Given the description of an element on the screen output the (x, y) to click on. 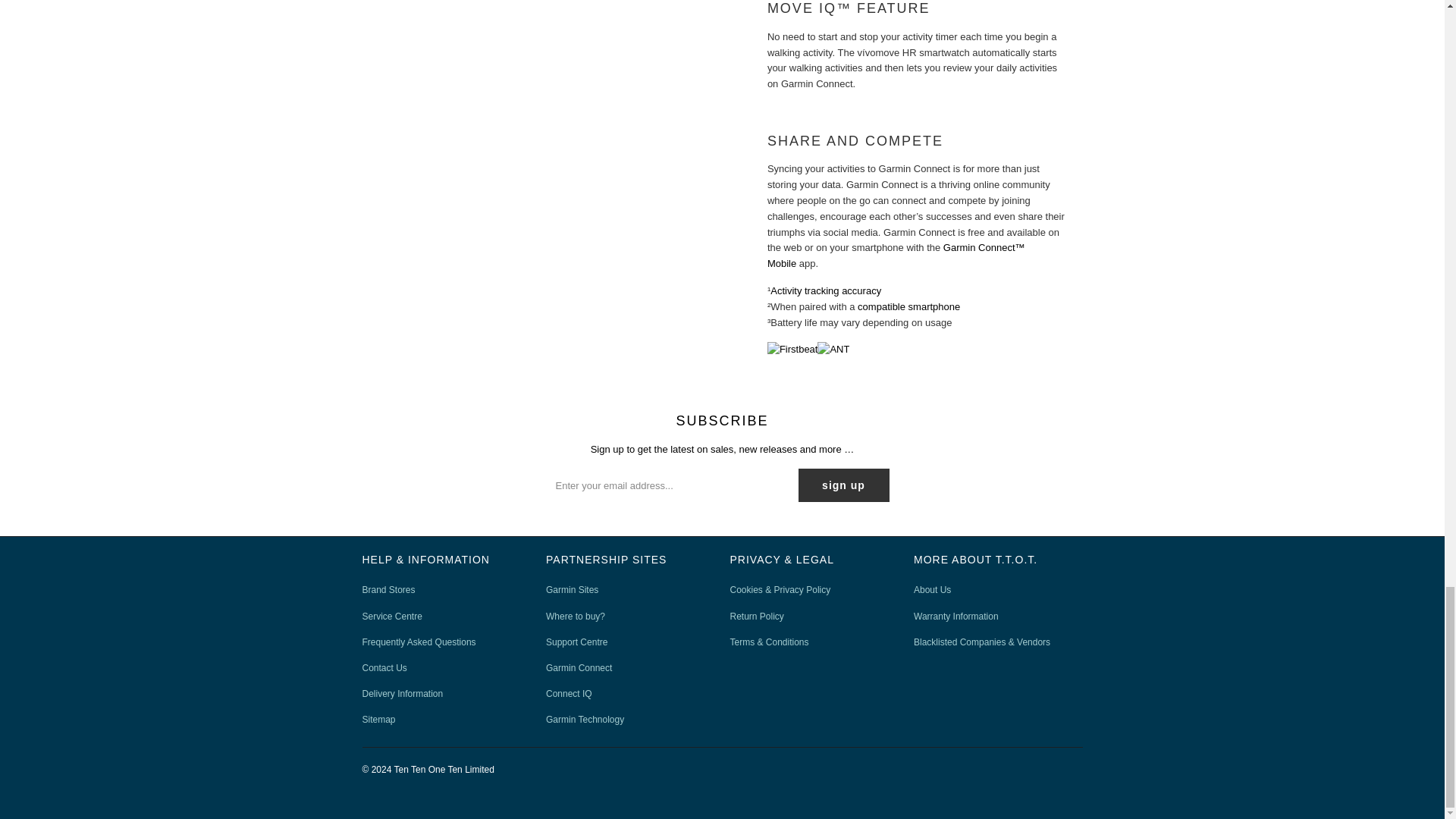
Sign Up (842, 485)
